Given the description of an element on the screen output the (x, y) to click on. 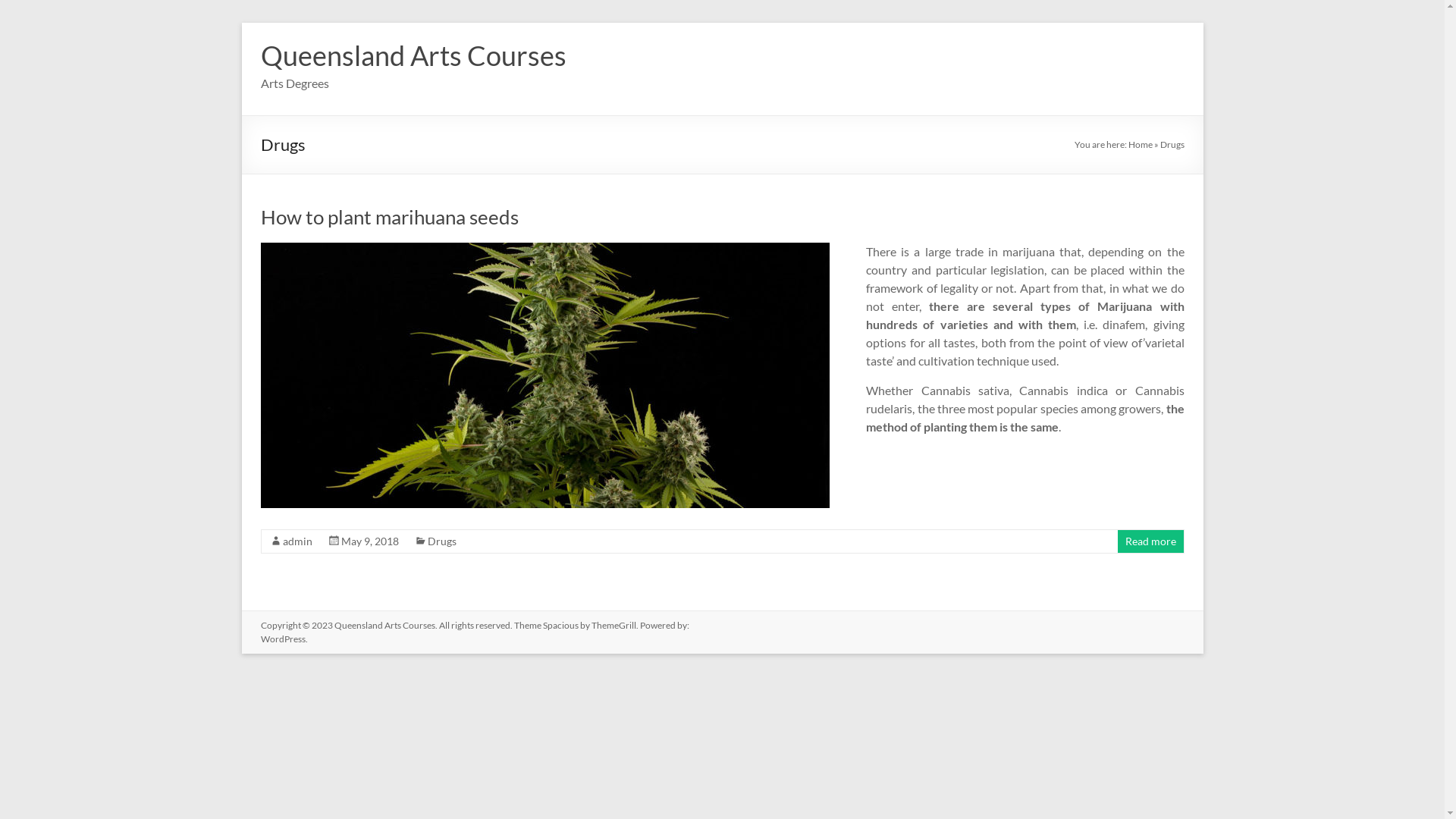
Home Element type: text (1140, 144)
admin Element type: text (296, 540)
How to plant marihuana seeds Element type: hover (544, 375)
How to plant marihuana seeds Element type: hover (544, 249)
Queensland Arts Courses Element type: text (413, 55)
Drugs Element type: text (441, 540)
WordPress Element type: text (282, 638)
Queensland Arts Courses Element type: text (383, 624)
Read more Element type: text (1150, 540)
Spacious Element type: text (560, 624)
How to plant marihuana seeds Element type: text (389, 216)
Skip to content Element type: text (241, 21)
May 9, 2018 Element type: text (369, 540)
